Given the description of an element on the screen output the (x, y) to click on. 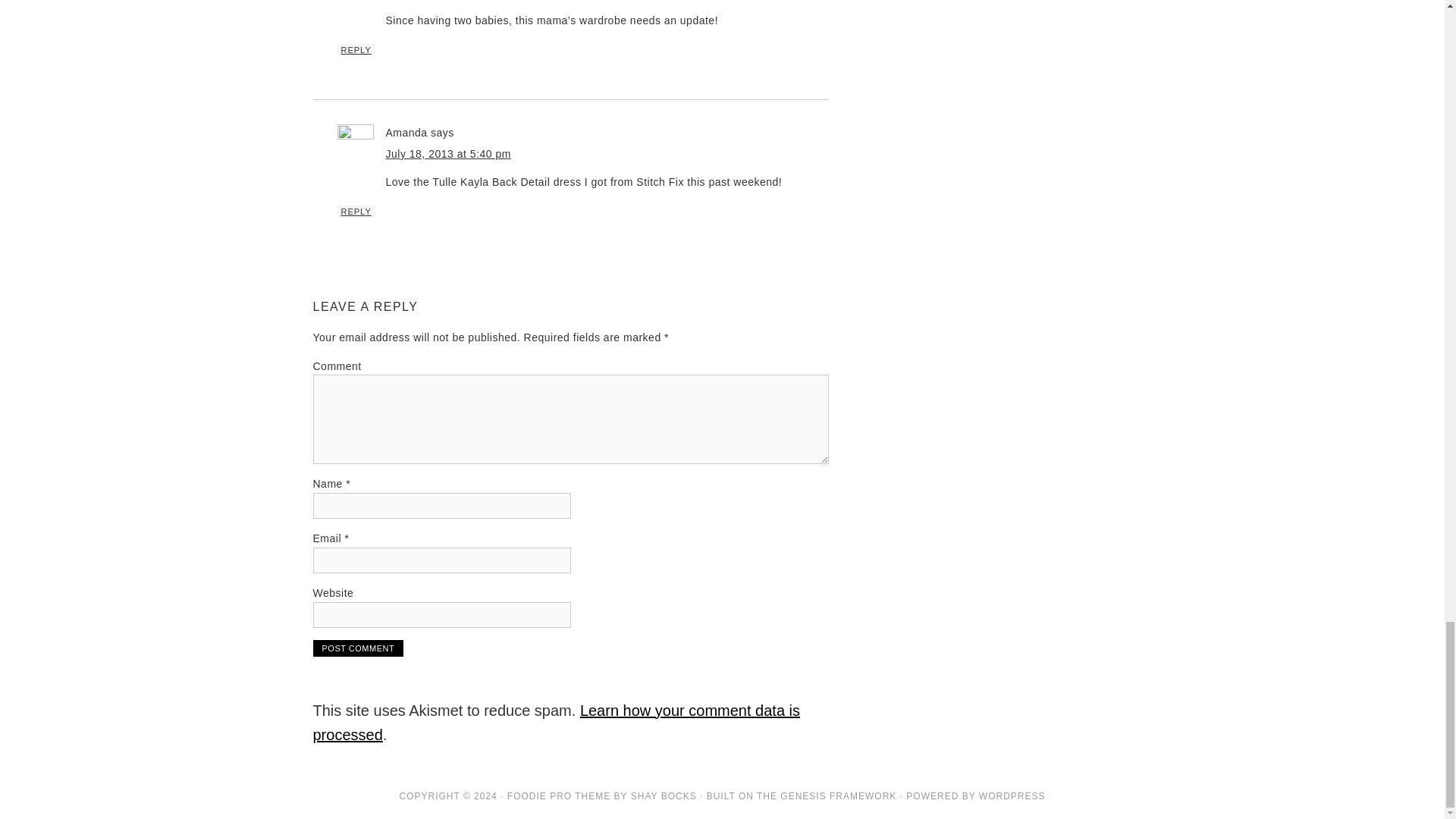
Post Comment (358, 647)
